Given the description of an element on the screen output the (x, y) to click on. 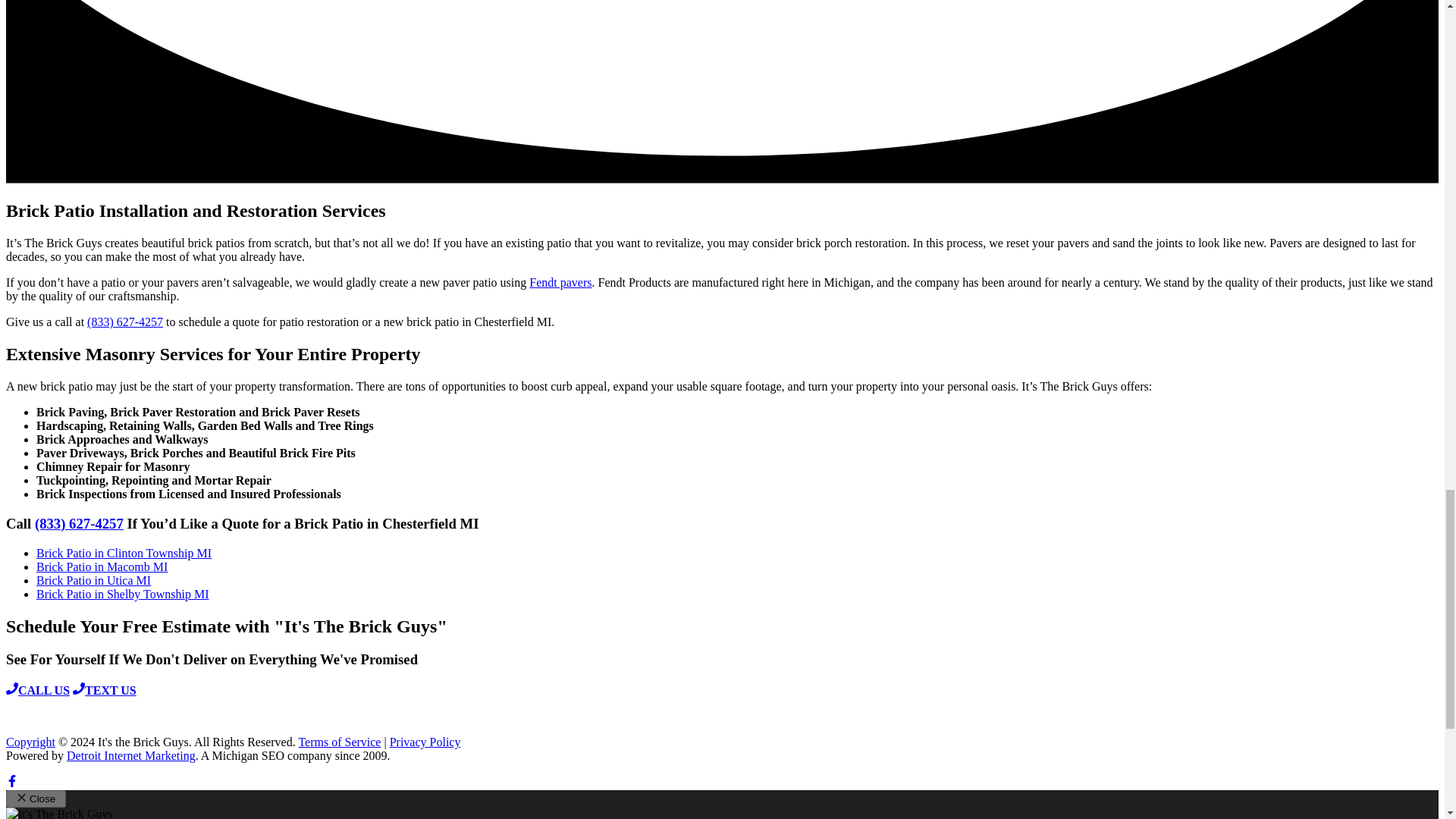
Brick Patio in Clinton Township MI (123, 553)
Brick Patio in Macomb MI (101, 566)
Fendt pavers (560, 282)
